Given the description of an element on the screen output the (x, y) to click on. 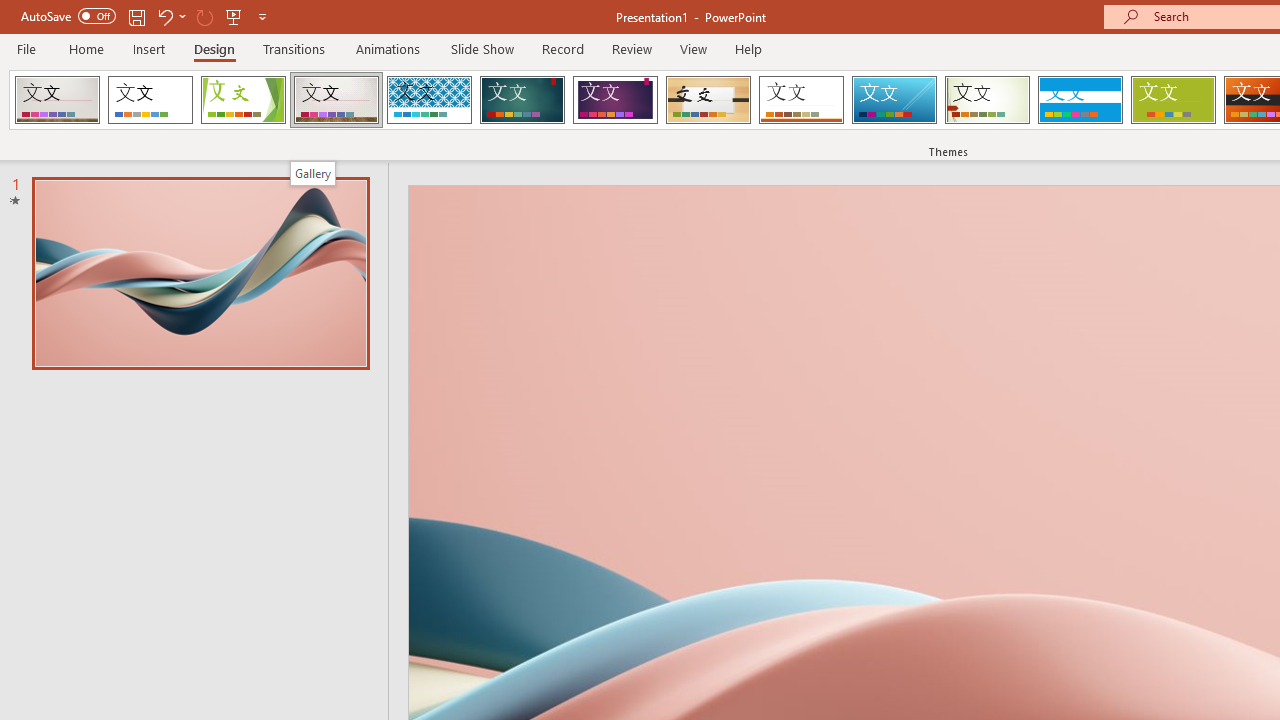
AdornVTI (57, 100)
Ion (522, 100)
Gallery (336, 100)
